Given the description of an element on the screen output the (x, y) to click on. 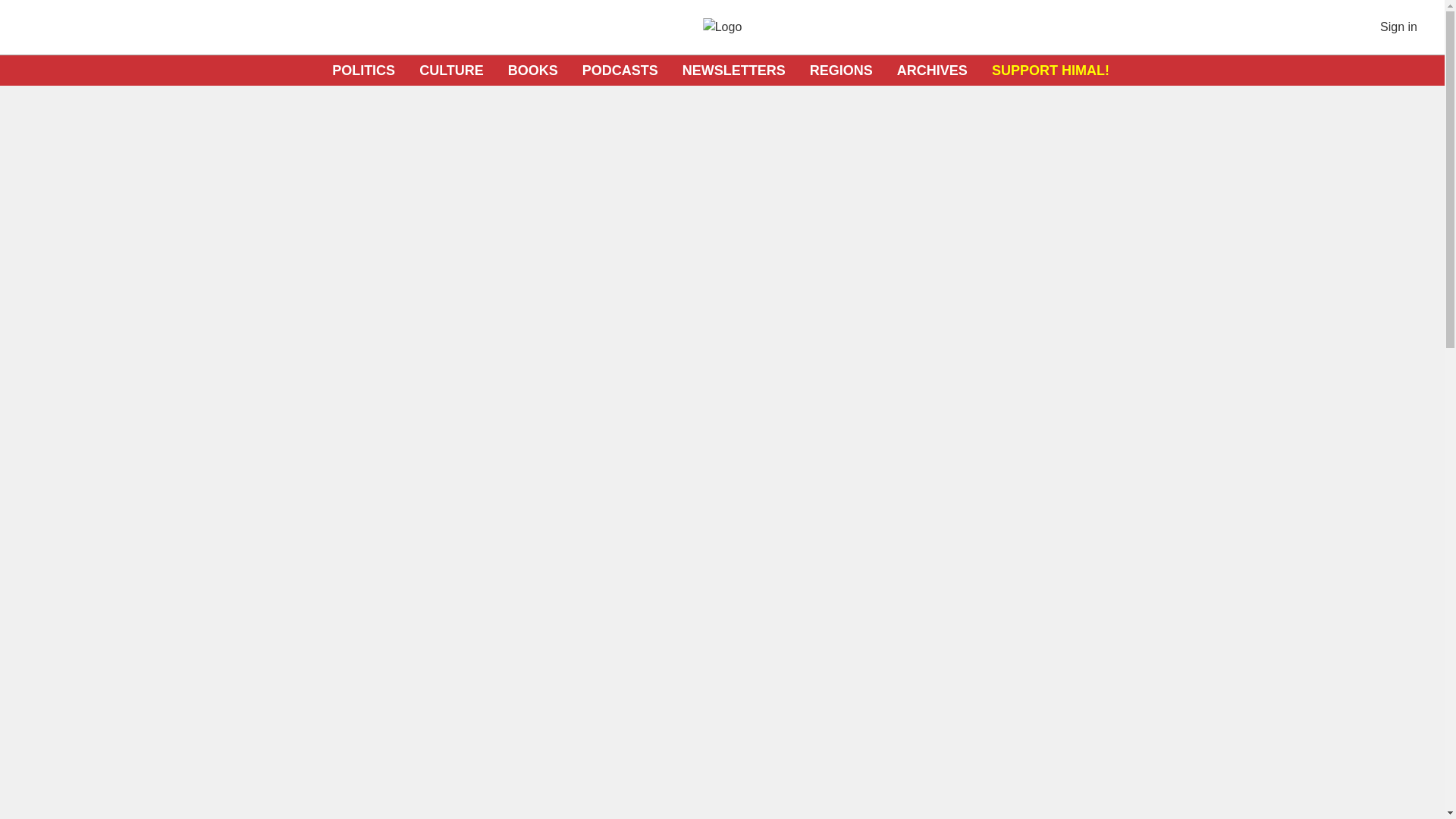
NEWSLETTERS (734, 70)
SUPPORT HIMAL! (1050, 70)
CULTURE (451, 70)
ARCHIVES (932, 70)
BOOKS (532, 70)
PODCASTS (620, 70)
POLITICS (362, 70)
